Given the description of an element on the screen output the (x, y) to click on. 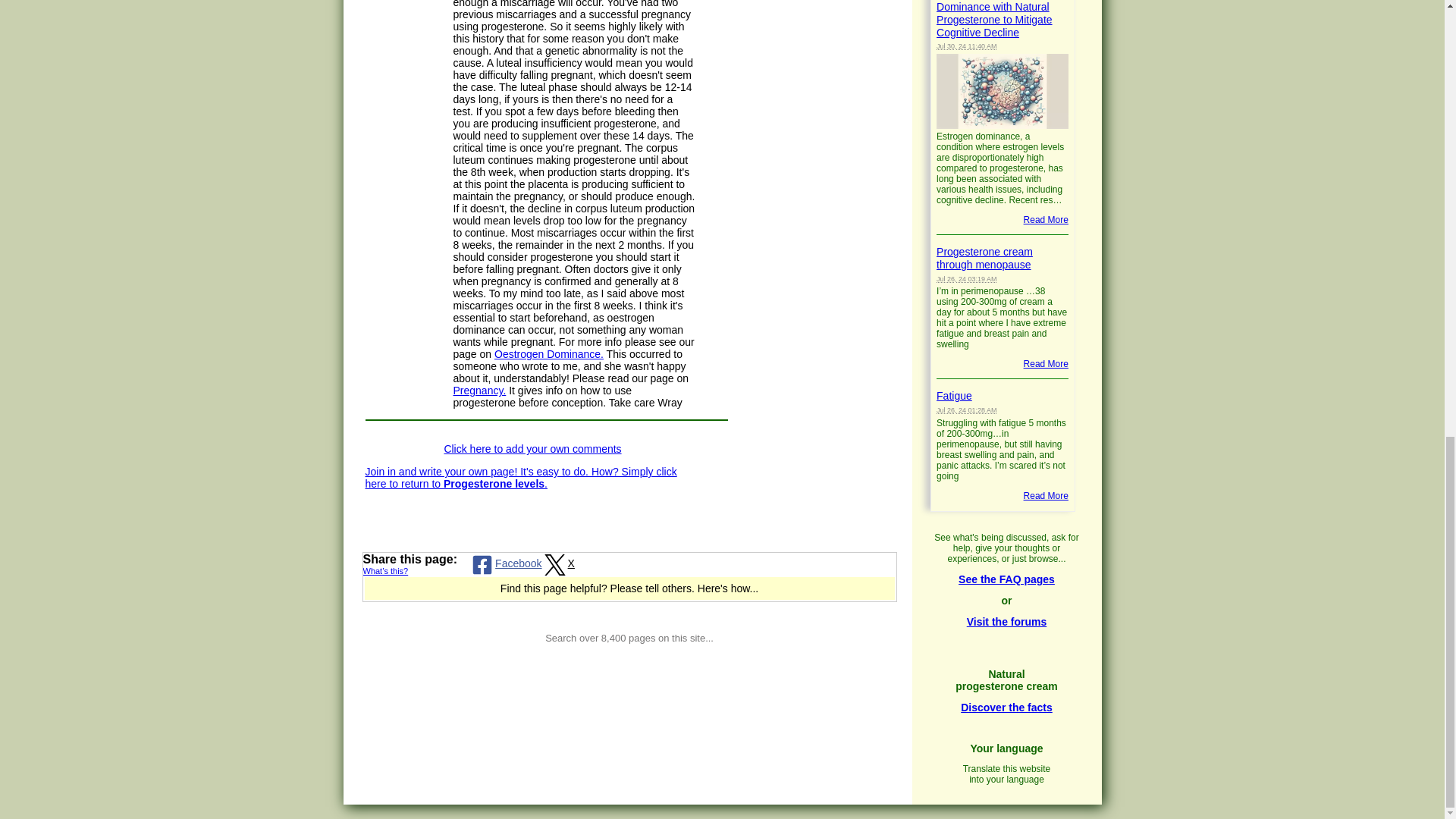
2024-07-26T01:28:12-0400 (966, 410)
2024-07-26T03:19:18-0400 (966, 278)
2024-07-30T11:40:51-0400 (966, 45)
